Given the description of an element on the screen output the (x, y) to click on. 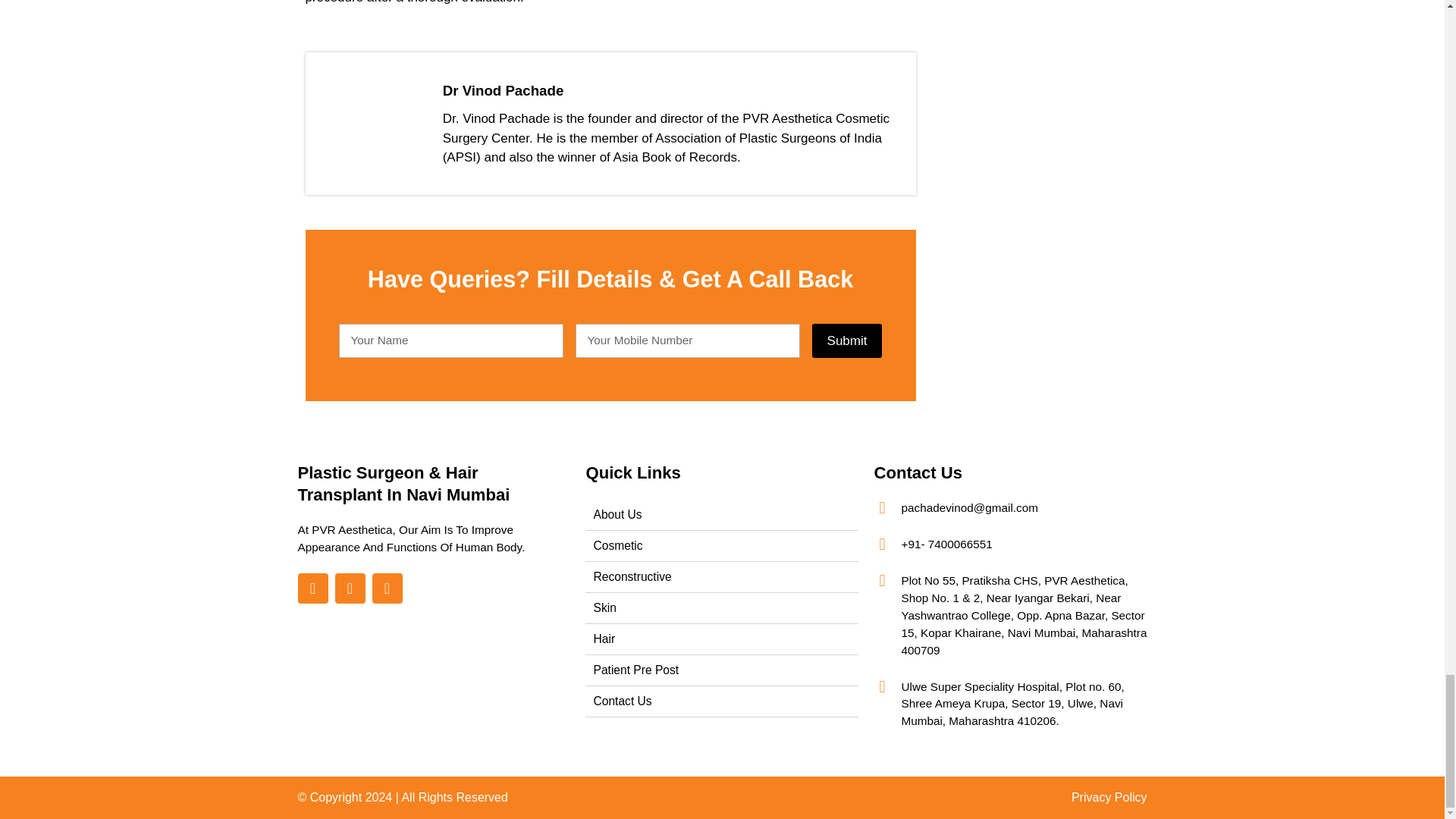
Submit (847, 340)
